Given the description of an element on the screen output the (x, y) to click on. 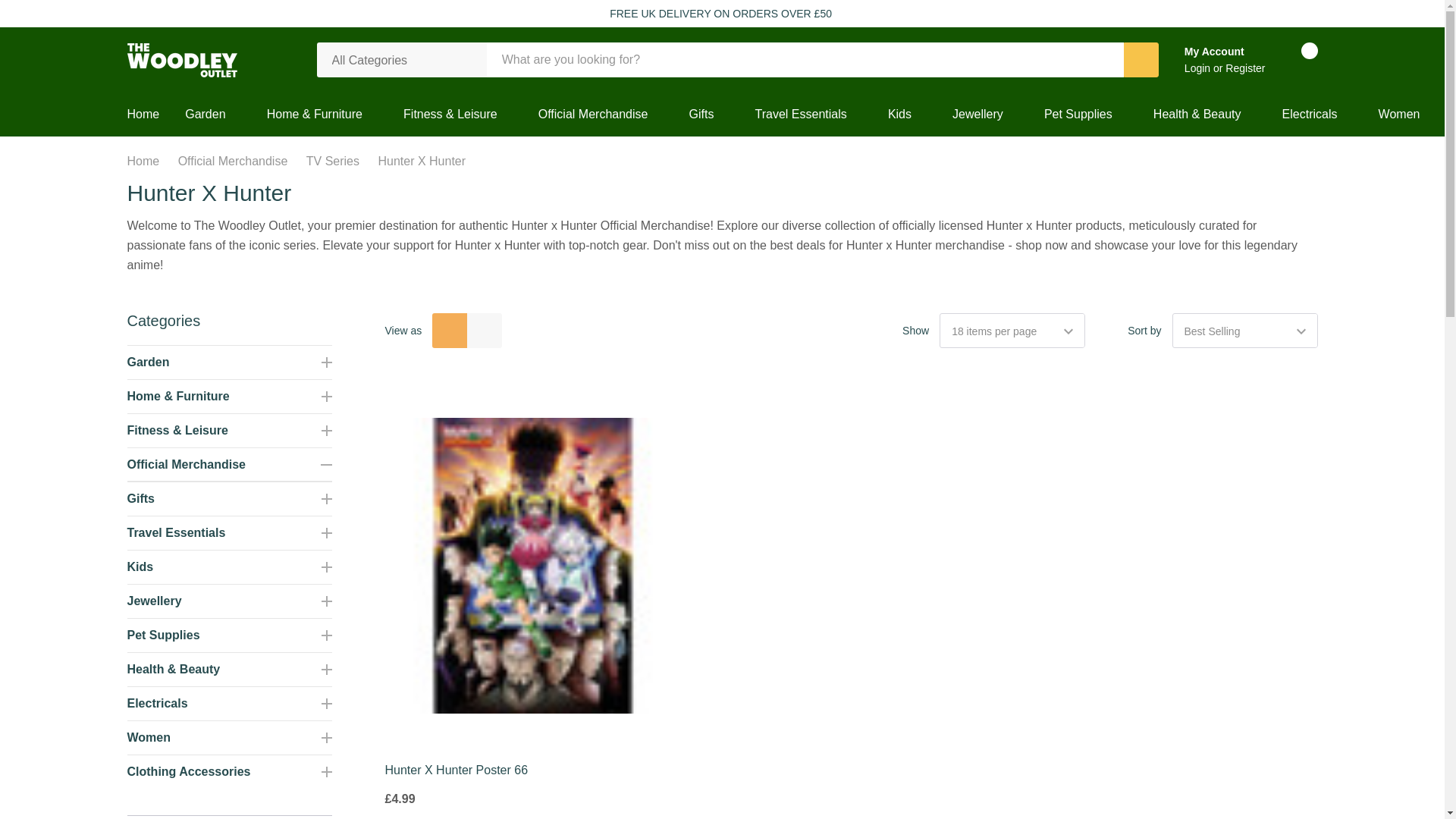
Home (150, 114)
Login (1198, 68)
Hunter X Hunter Poster 66 (533, 565)
The Woodley Outlet (182, 59)
Register (1245, 68)
Garden (204, 114)
